Given the description of an element on the screen output the (x, y) to click on. 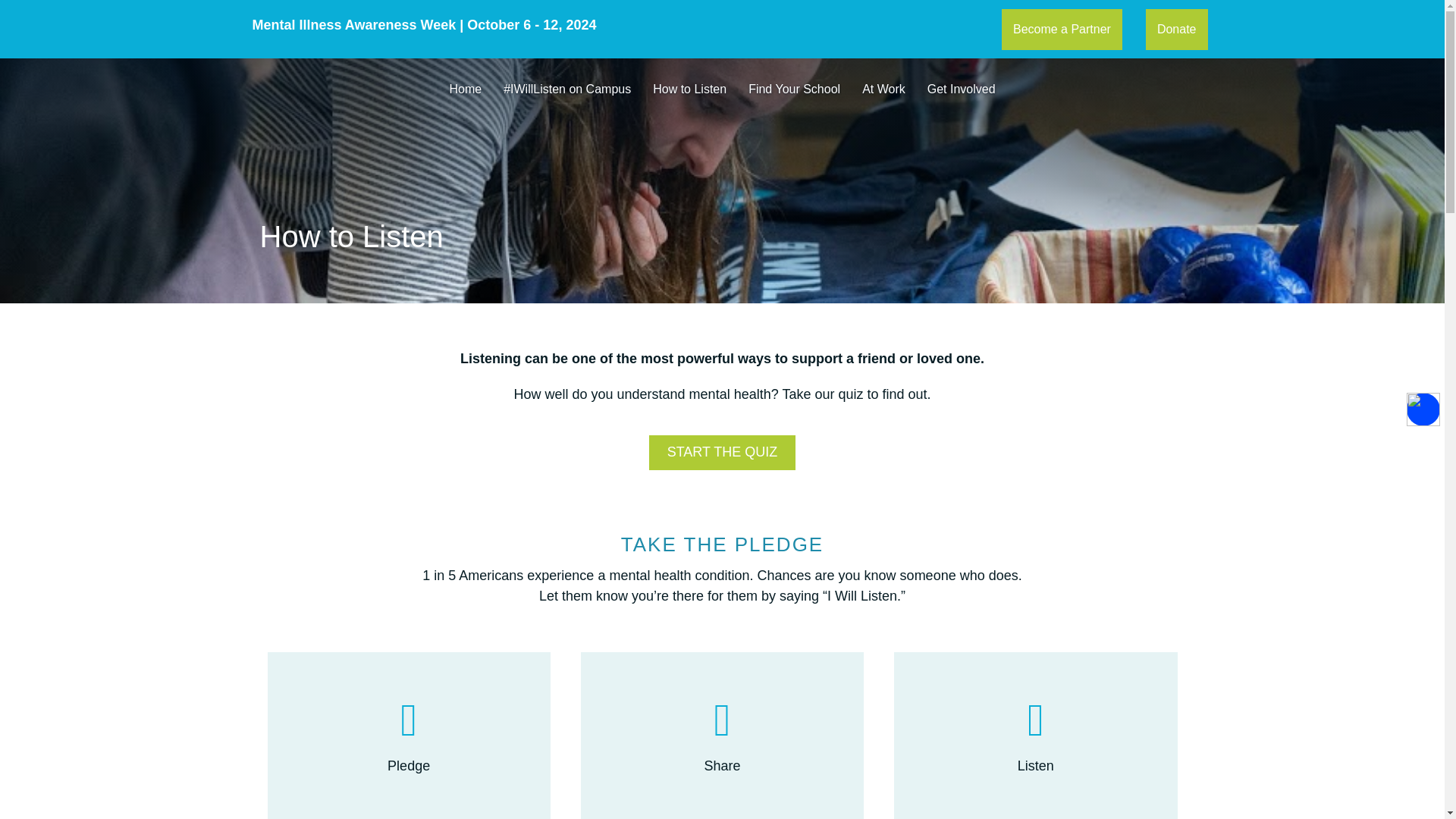
Accessibility Menu (1422, 409)
Donate (1176, 29)
How to Listen (689, 88)
At Work (883, 88)
Find Your School (794, 88)
Get Involved (961, 88)
Home (465, 88)
Become a Partner (1061, 29)
START THE QUIZ (722, 452)
